Given the description of an element on the screen output the (x, y) to click on. 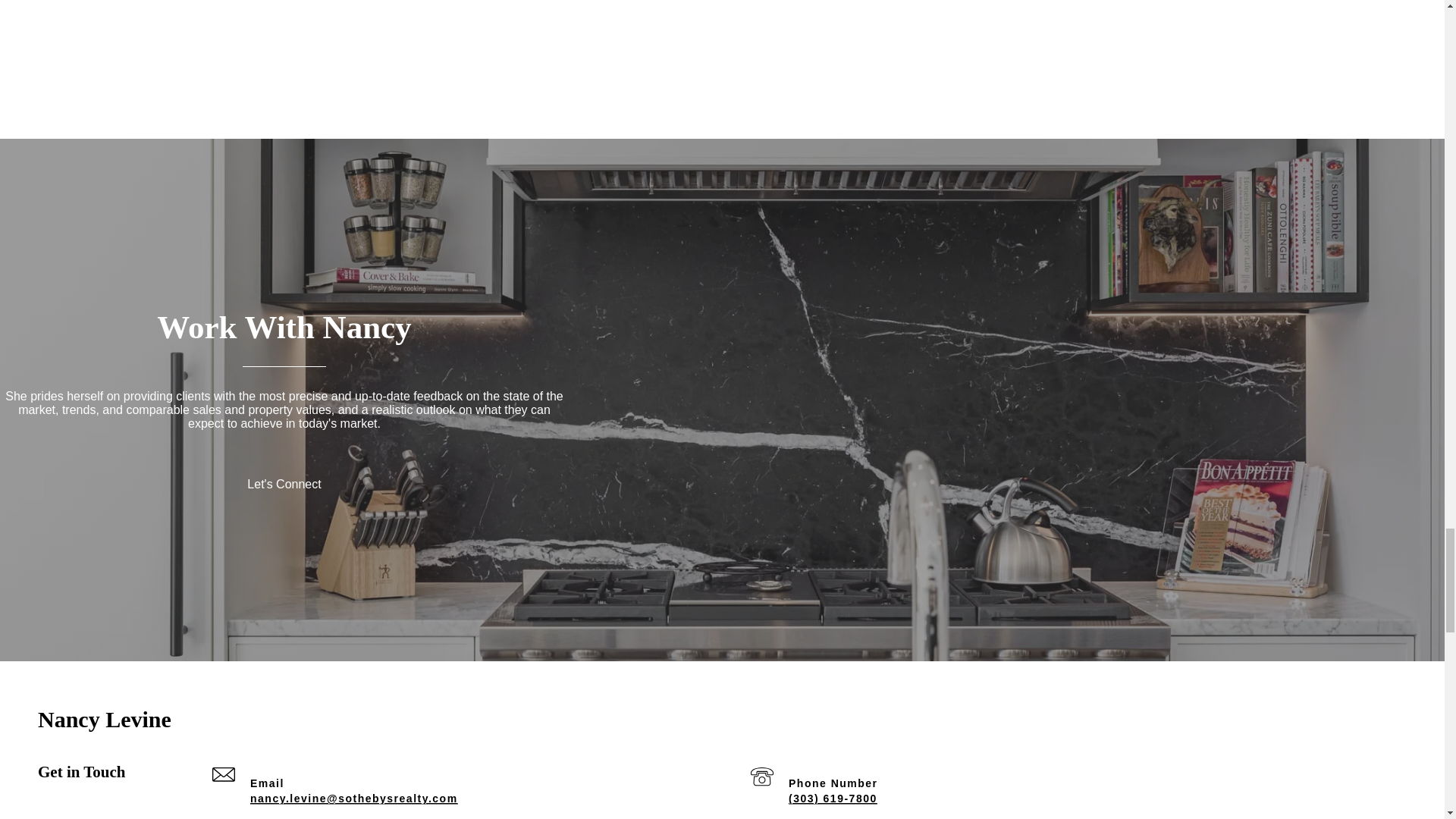
Let's Connect (283, 484)
